Given the description of an element on the screen output the (x, y) to click on. 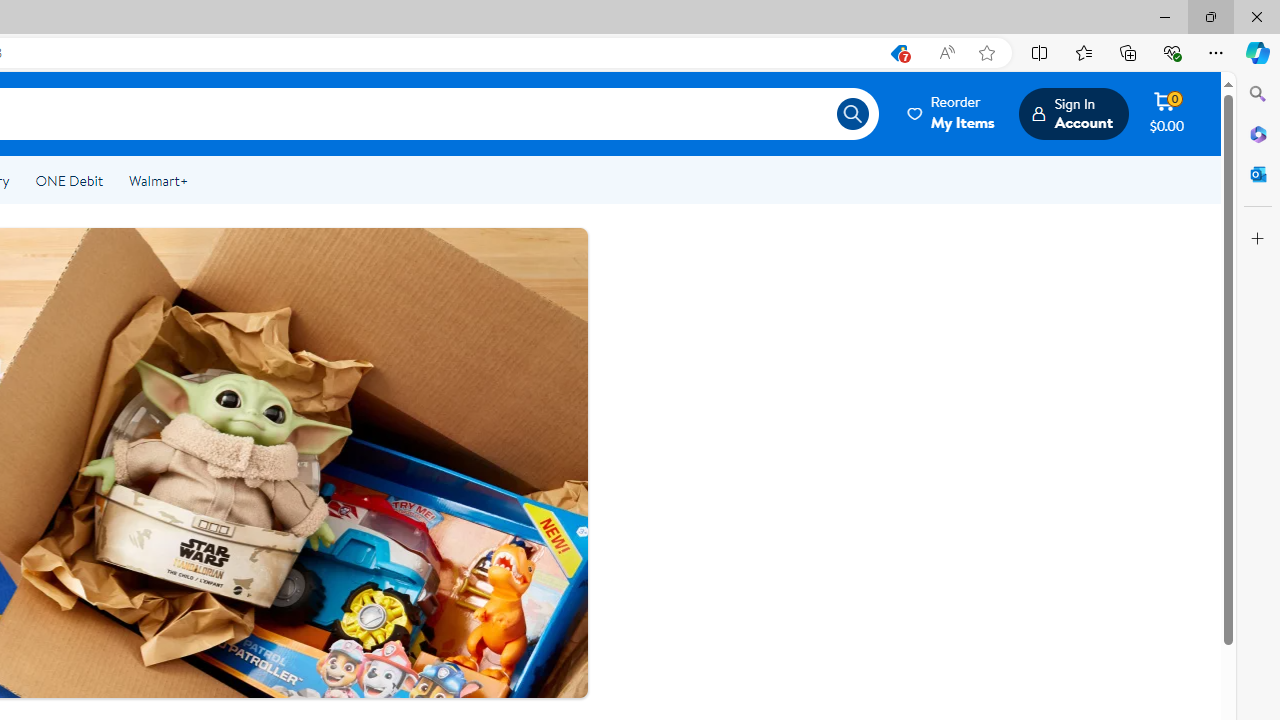
Reorder My Items (952, 113)
ReorderMy Items (952, 113)
ONE Debit (68, 180)
Cart contains 0 items Total Amount $0.00 (1166, 113)
ONE Debit (68, 180)
Walmart+ (158, 180)
